Given the description of an element on the screen output the (x, y) to click on. 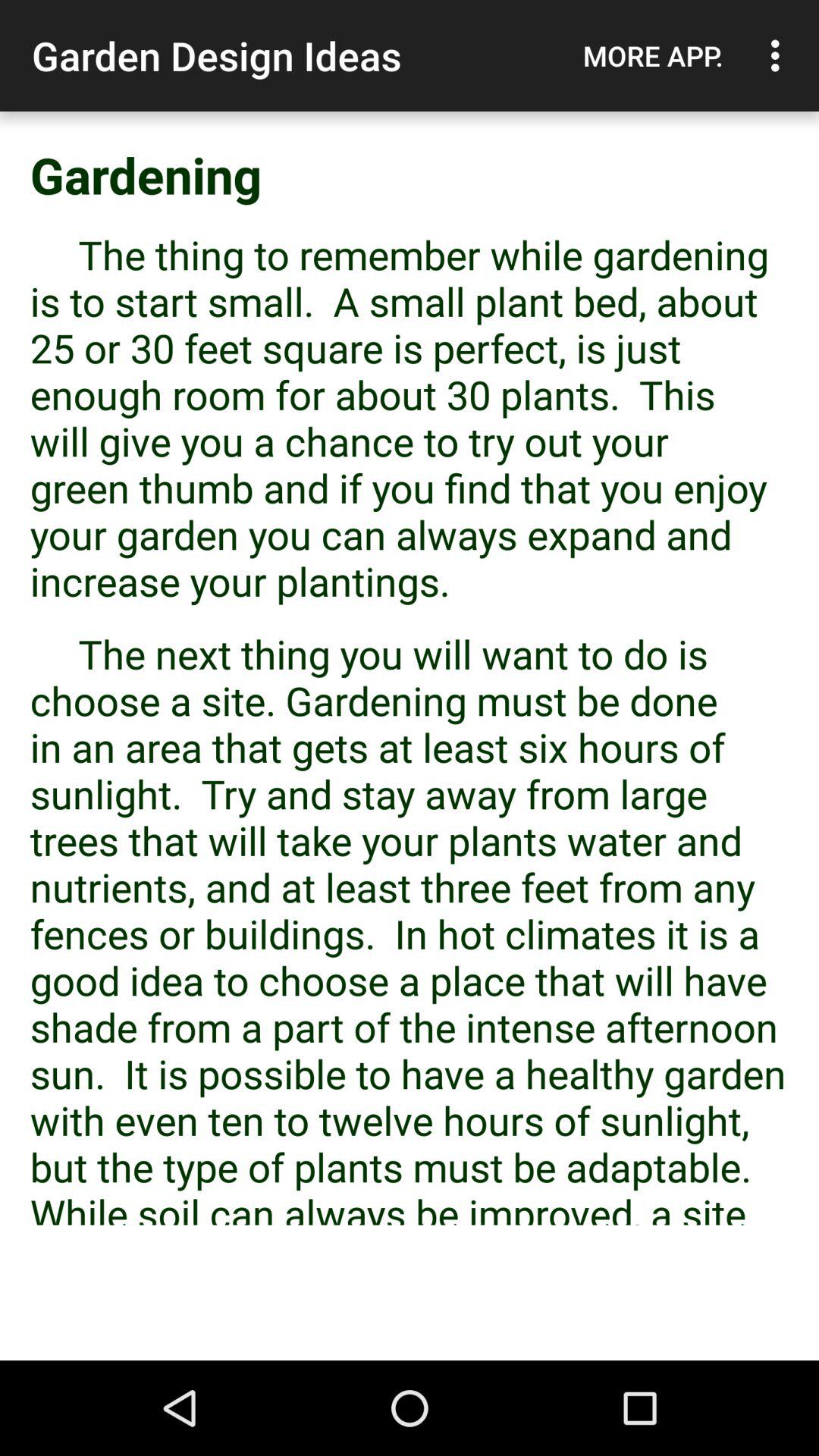
turn on item next to the garden design ideas item (653, 55)
